Given the description of an element on the screen output the (x, y) to click on. 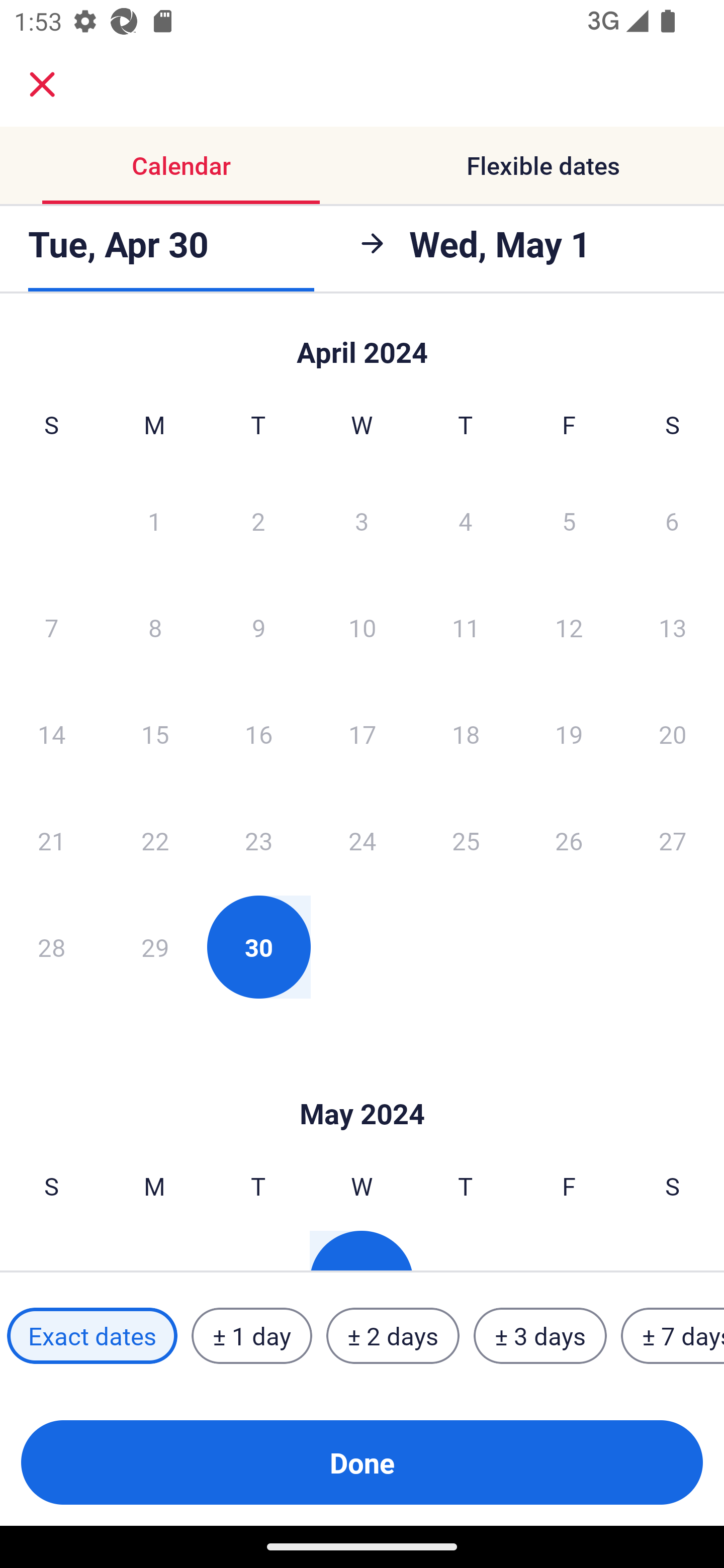
close. (42, 84)
Flexible dates (542, 164)
Skip to Done (362, 343)
1 Monday, April 1, 2024 (154, 520)
2 Tuesday, April 2, 2024 (257, 520)
3 Wednesday, April 3, 2024 (361, 520)
4 Thursday, April 4, 2024 (465, 520)
5 Friday, April 5, 2024 (568, 520)
6 Saturday, April 6, 2024 (672, 520)
7 Sunday, April 7, 2024 (51, 626)
8 Monday, April 8, 2024 (155, 626)
9 Tuesday, April 9, 2024 (258, 626)
10 Wednesday, April 10, 2024 (362, 626)
11 Thursday, April 11, 2024 (465, 626)
12 Friday, April 12, 2024 (569, 626)
13 Saturday, April 13, 2024 (672, 626)
14 Sunday, April 14, 2024 (51, 733)
15 Monday, April 15, 2024 (155, 733)
16 Tuesday, April 16, 2024 (258, 733)
17 Wednesday, April 17, 2024 (362, 733)
18 Thursday, April 18, 2024 (465, 733)
19 Friday, April 19, 2024 (569, 733)
20 Saturday, April 20, 2024 (672, 733)
21 Sunday, April 21, 2024 (51, 840)
22 Monday, April 22, 2024 (155, 840)
23 Tuesday, April 23, 2024 (258, 840)
24 Wednesday, April 24, 2024 (362, 840)
25 Thursday, April 25, 2024 (465, 840)
26 Friday, April 26, 2024 (569, 840)
27 Saturday, April 27, 2024 (672, 840)
28 Sunday, April 28, 2024 (51, 946)
29 Monday, April 29, 2024 (155, 946)
Skip to Done (362, 1083)
Exact dates (92, 1335)
± 1 day (251, 1335)
± 2 days (392, 1335)
± 3 days (539, 1335)
± 7 days (672, 1335)
Done (361, 1462)
